Given the description of an element on the screen output the (x, y) to click on. 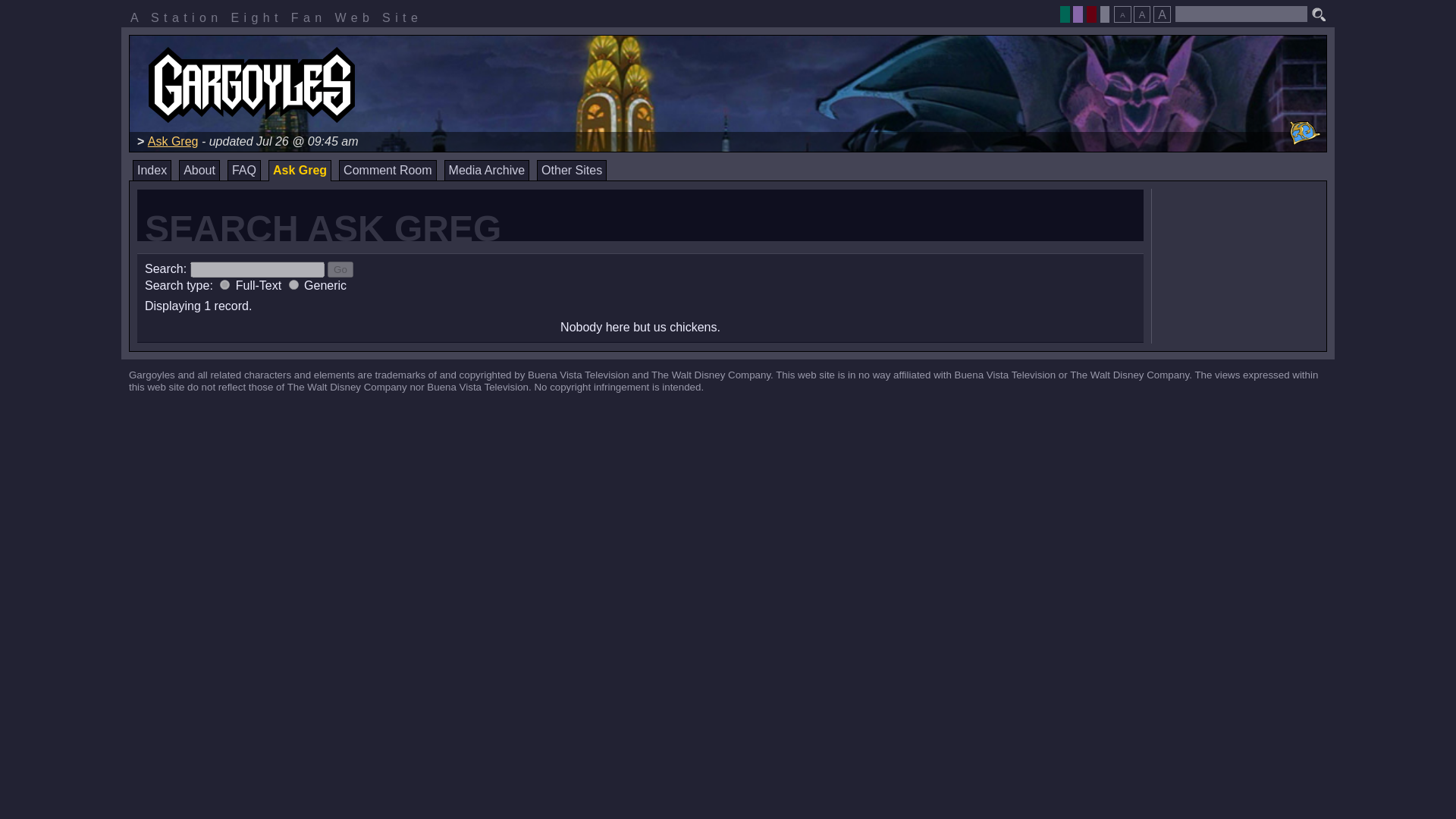
Go (340, 269)
Ask Greg (173, 141)
Large Font Size (1161, 13)
About (199, 169)
Select the font size the best suits your needs. (1141, 9)
Comment Room (387, 169)
Other Sites (572, 169)
Ask Greg (299, 169)
A (1122, 13)
A (1161, 13)
A (1142, 13)
Standard Font Size (1142, 13)
Generic (293, 284)
Go (340, 269)
Index (151, 169)
